Given the description of an element on the screen output the (x, y) to click on. 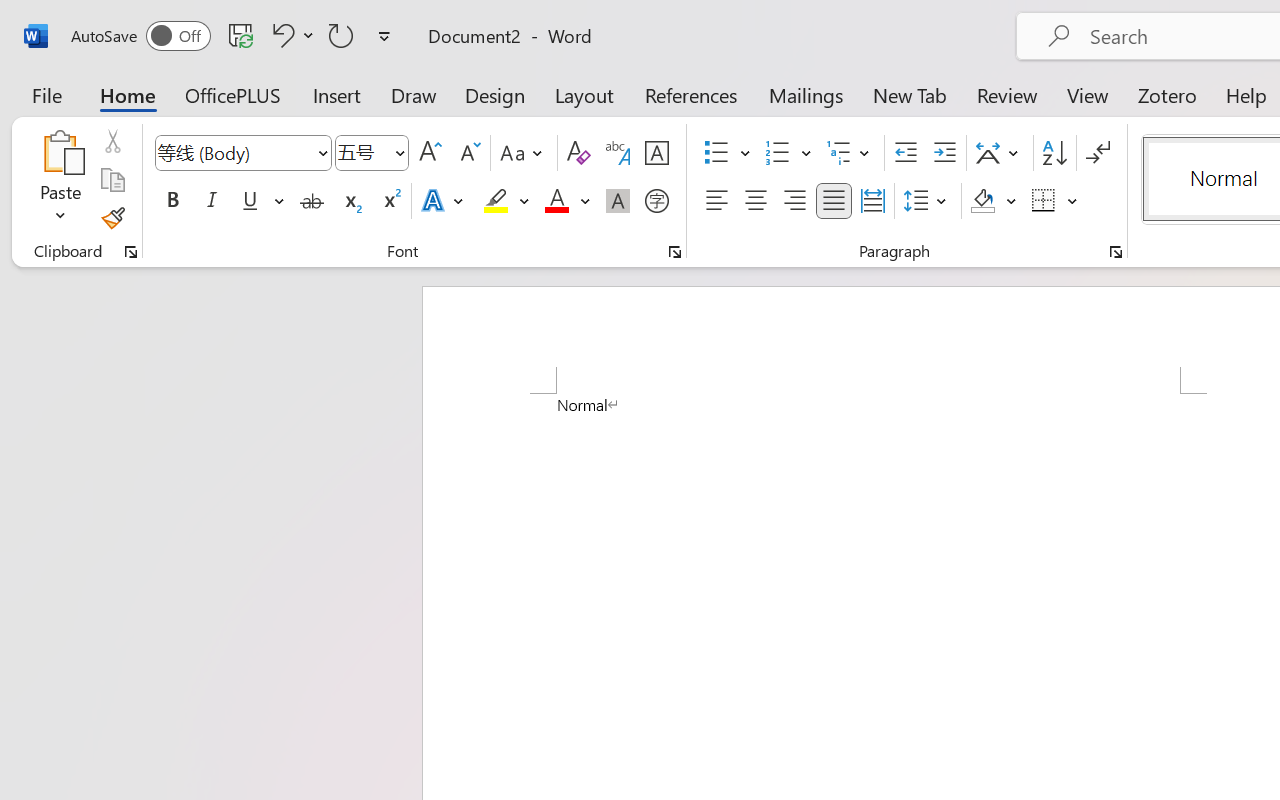
Paragraph... (1115, 252)
Asian Layout (1000, 153)
Font Color (567, 201)
Paste (60, 151)
Italic (212, 201)
Clear Formatting (578, 153)
OfficePLUS (233, 94)
Underline (261, 201)
Align Left (716, 201)
Font Size (372, 153)
Draw (413, 94)
Character Border (656, 153)
Justify (834, 201)
Copy (112, 179)
References (690, 94)
